Given the description of an element on the screen output the (x, y) to click on. 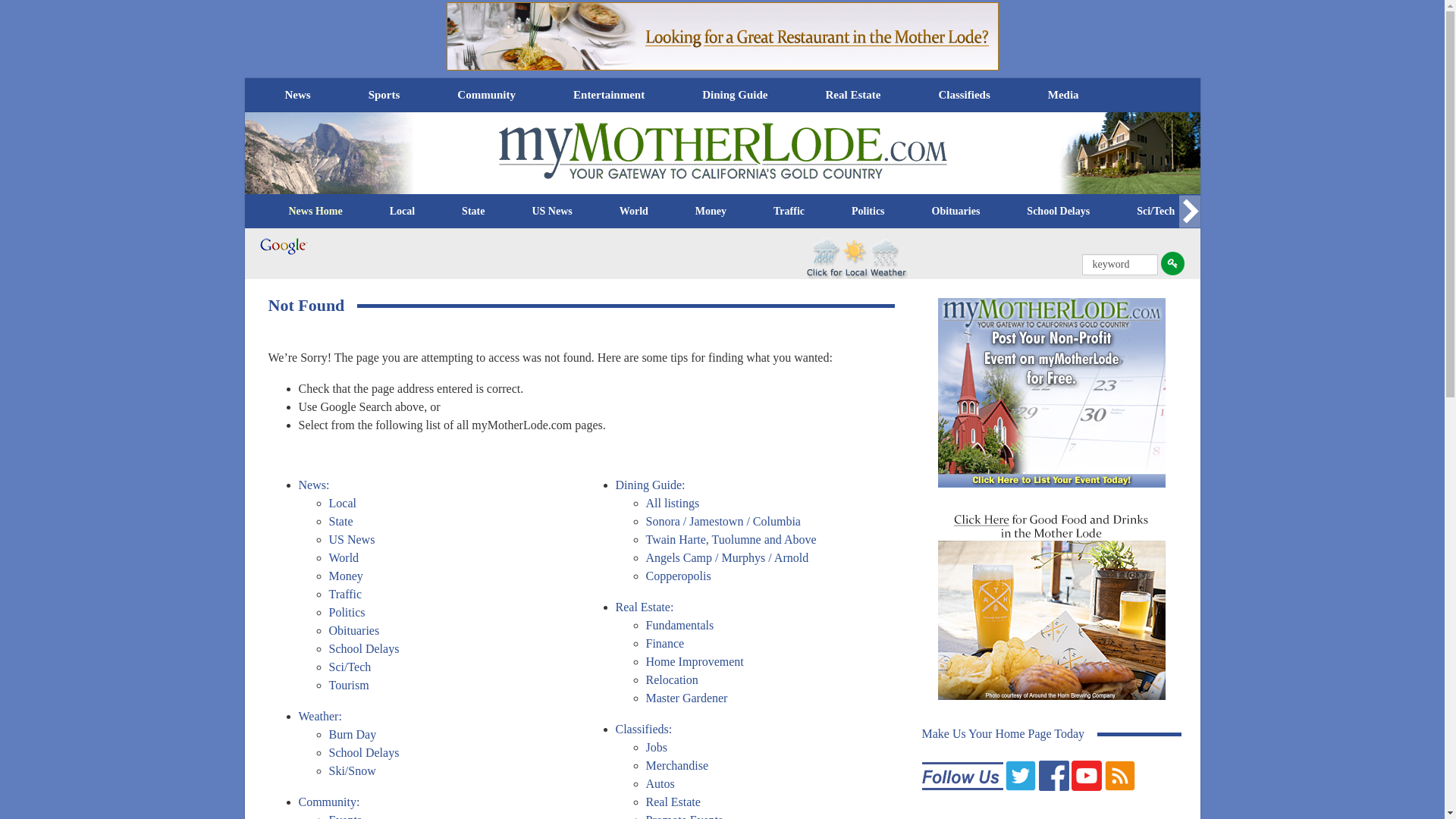
US News (551, 210)
Traffic (788, 210)
Local (402, 210)
Sports (384, 94)
Entertainment (608, 94)
Classifieds (963, 94)
News (297, 94)
Tourism (1240, 210)
